Given the description of an element on the screen output the (x, y) to click on. 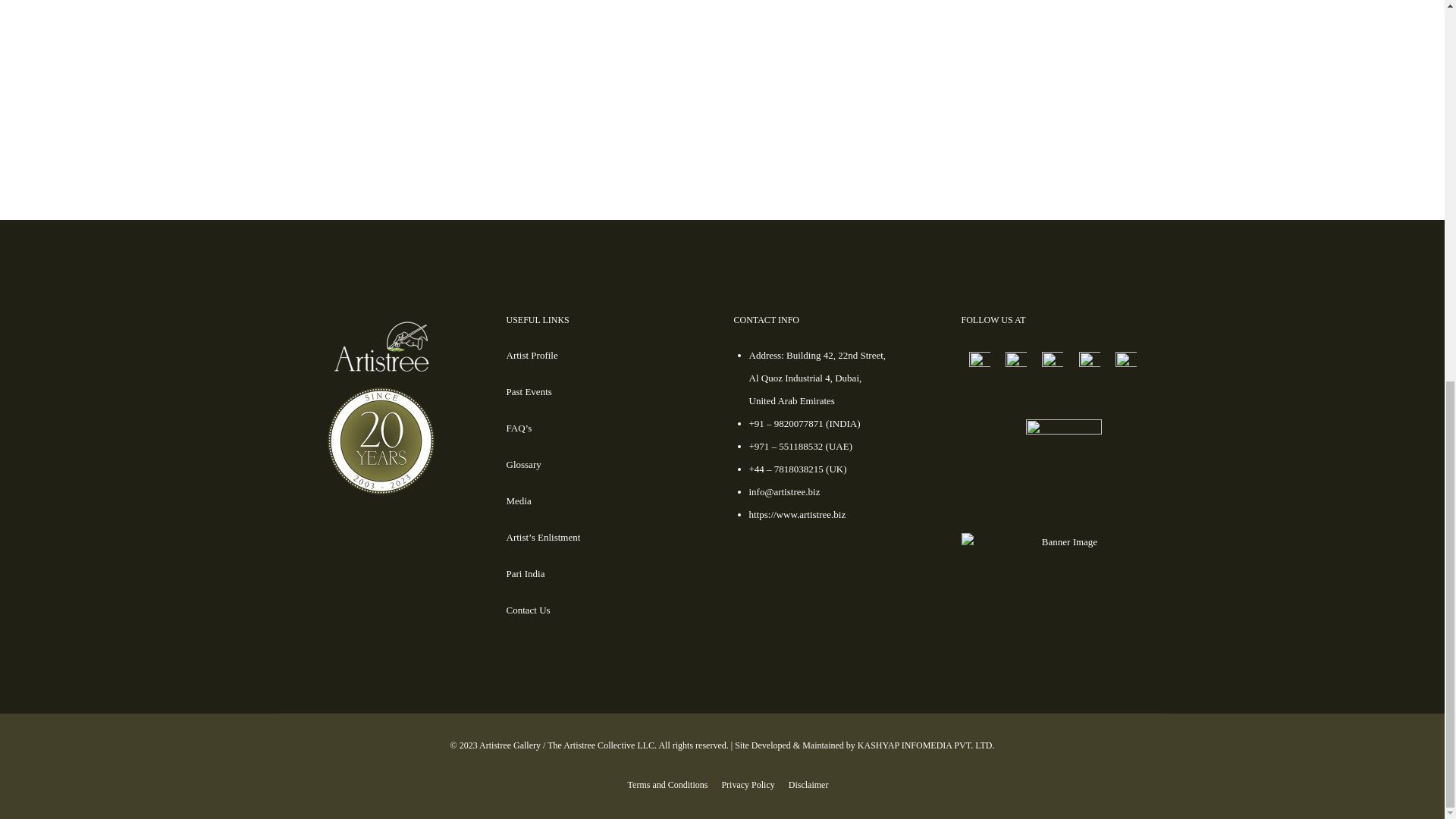
Terms and Conditions (667, 784)
Contact Us (528, 609)
Media (518, 500)
Disclaimer (808, 784)
Glossary (523, 464)
KASHYAP INFOMEDIA PVT. LTD. (925, 745)
Privacy Policy (747, 784)
Past Events (528, 391)
Artist Profile (531, 355)
Pari India (525, 573)
